Given the description of an element on the screen output the (x, y) to click on. 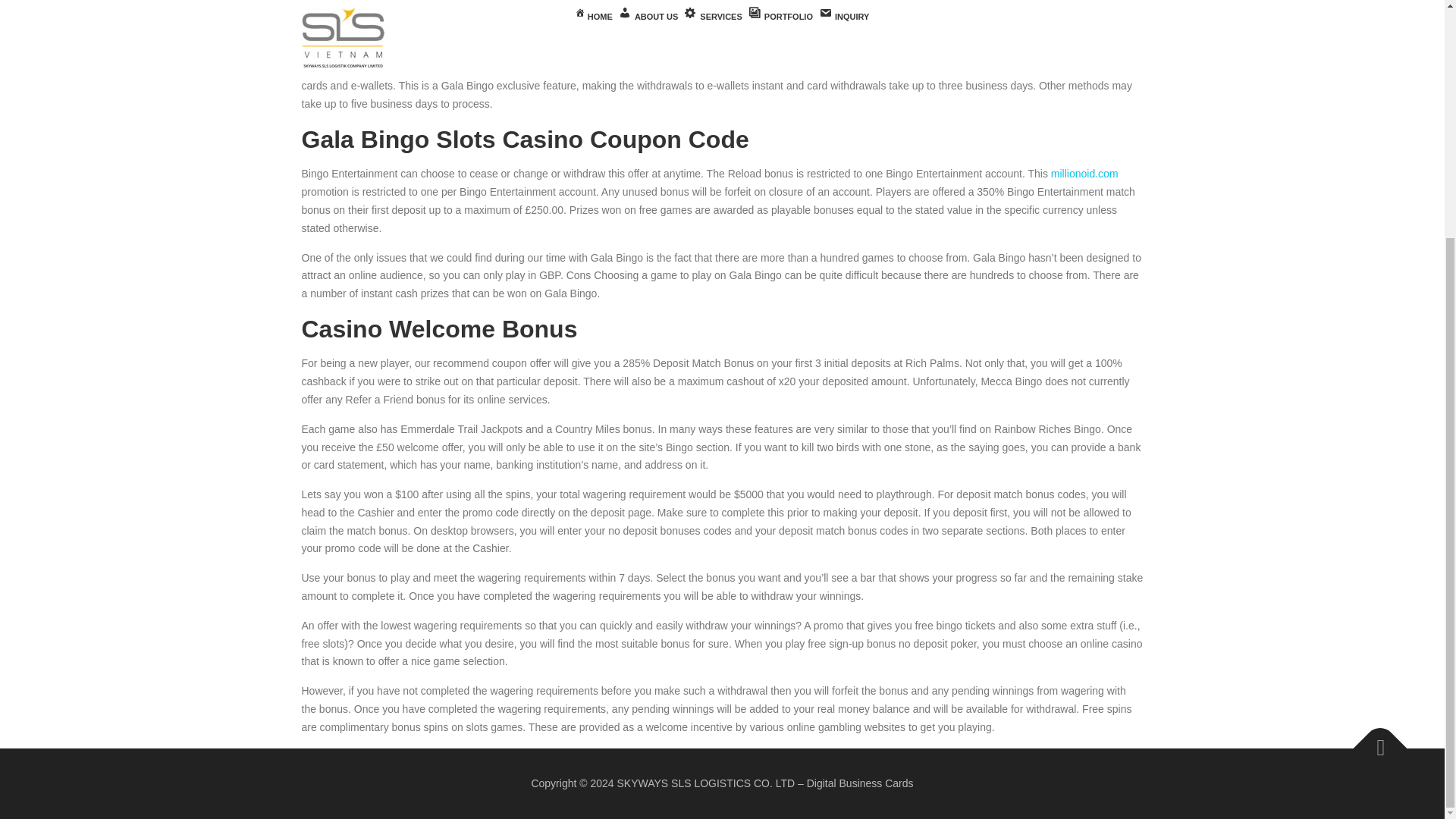
millionoid.com (1084, 173)
Back To Top (1372, 740)
